Given the description of an element on the screen output the (x, y) to click on. 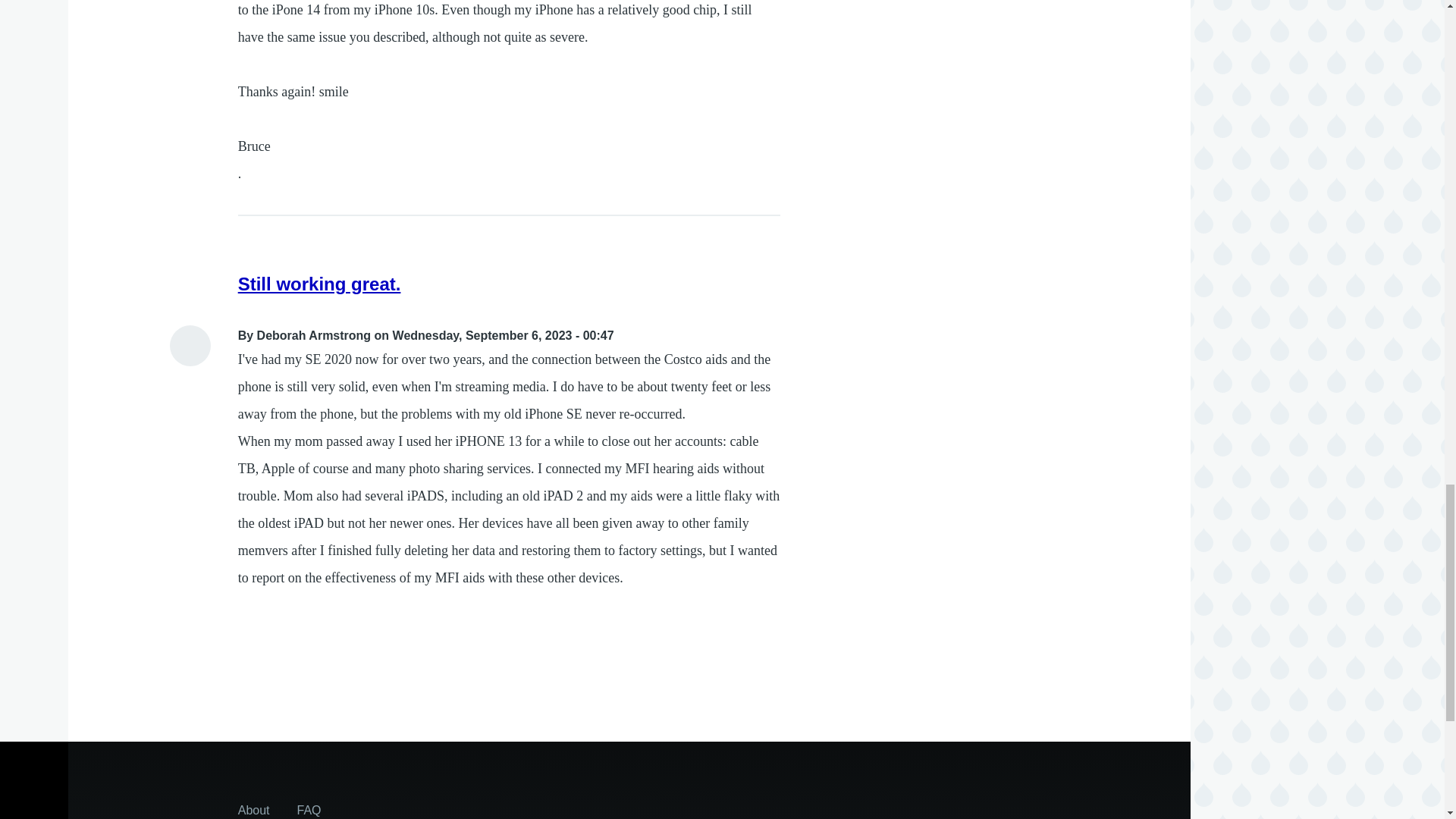
FAQ (309, 807)
About (253, 807)
Answers to some frequently asked questions about AppleVis (309, 807)
About (253, 807)
Still working great. (319, 283)
